Given the description of an element on the screen output the (x, y) to click on. 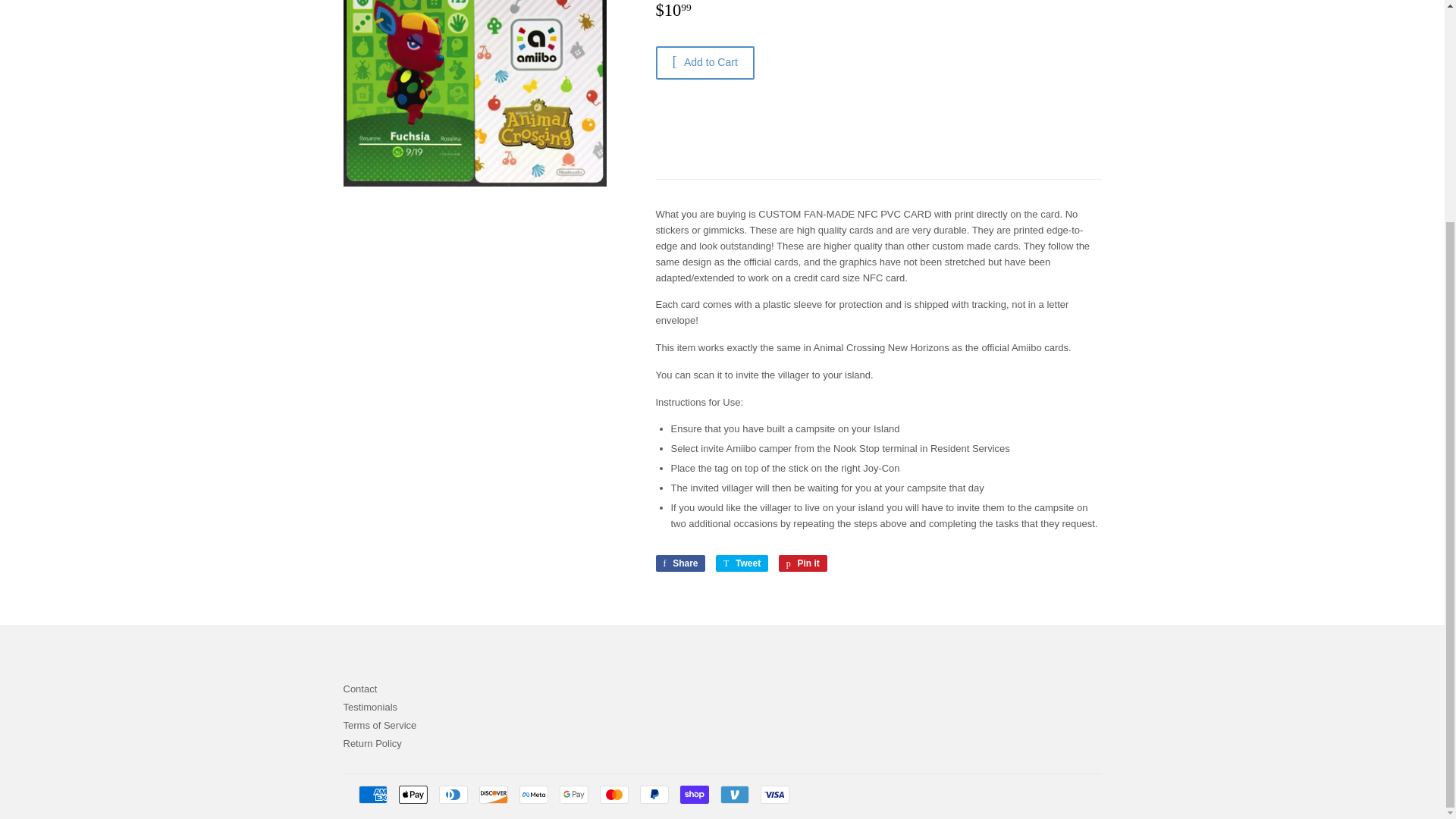
Share on Facebook (679, 563)
American Express (372, 794)
Visa (774, 794)
Pin on Pinterest (802, 563)
Google Pay (573, 794)
Apple Pay (413, 794)
Venmo (734, 794)
PayPal (654, 794)
Tweet on Twitter (742, 563)
Shop Pay (693, 794)
Mastercard (612, 794)
Diners Club (452, 794)
Meta Pay (532, 794)
Discover (493, 794)
